Given the description of an element on the screen output the (x, y) to click on. 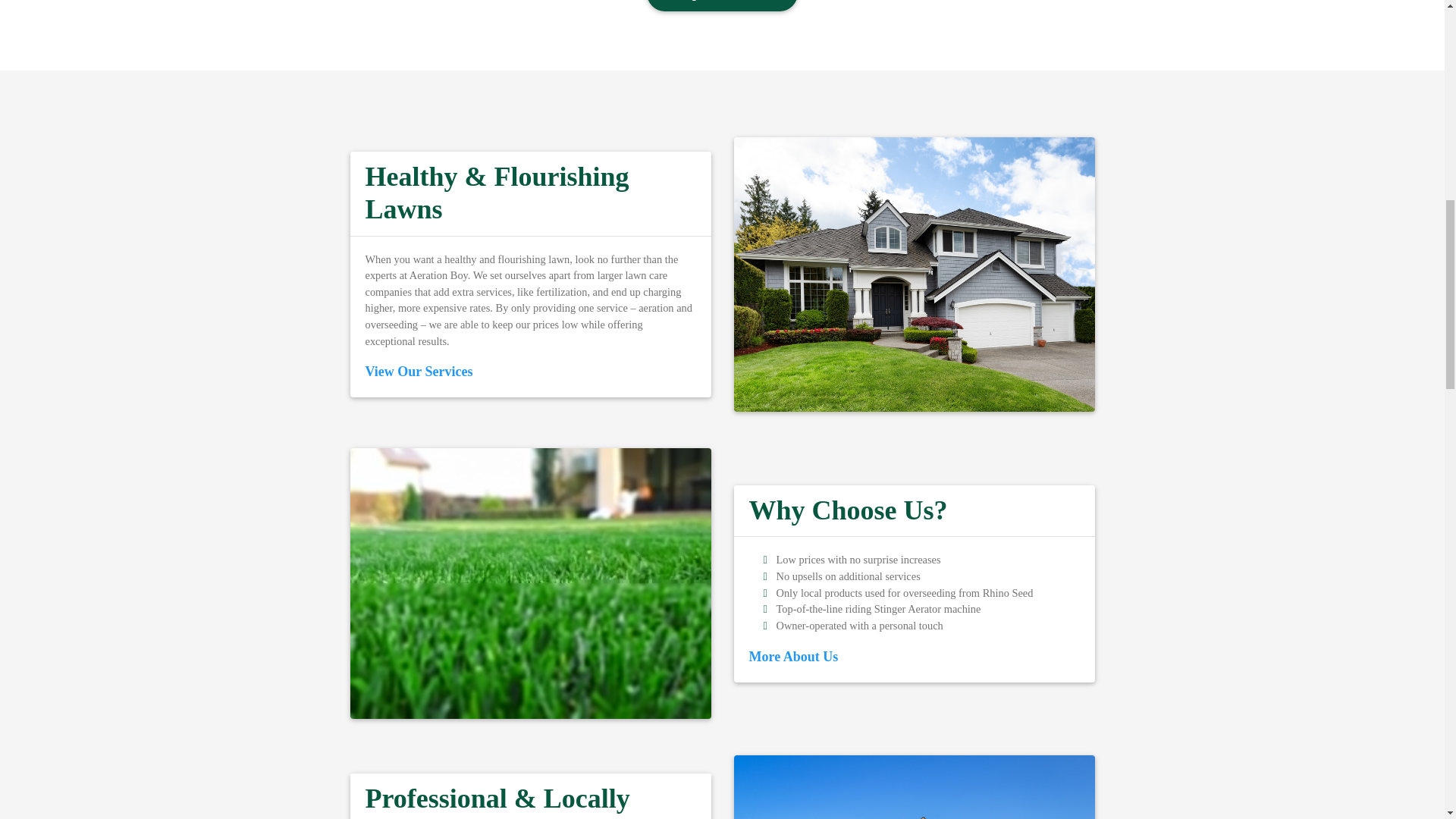
View Our Services (419, 371)
More About Us (793, 656)
Request Quote (721, 5)
